Given the description of an element on the screen output the (x, y) to click on. 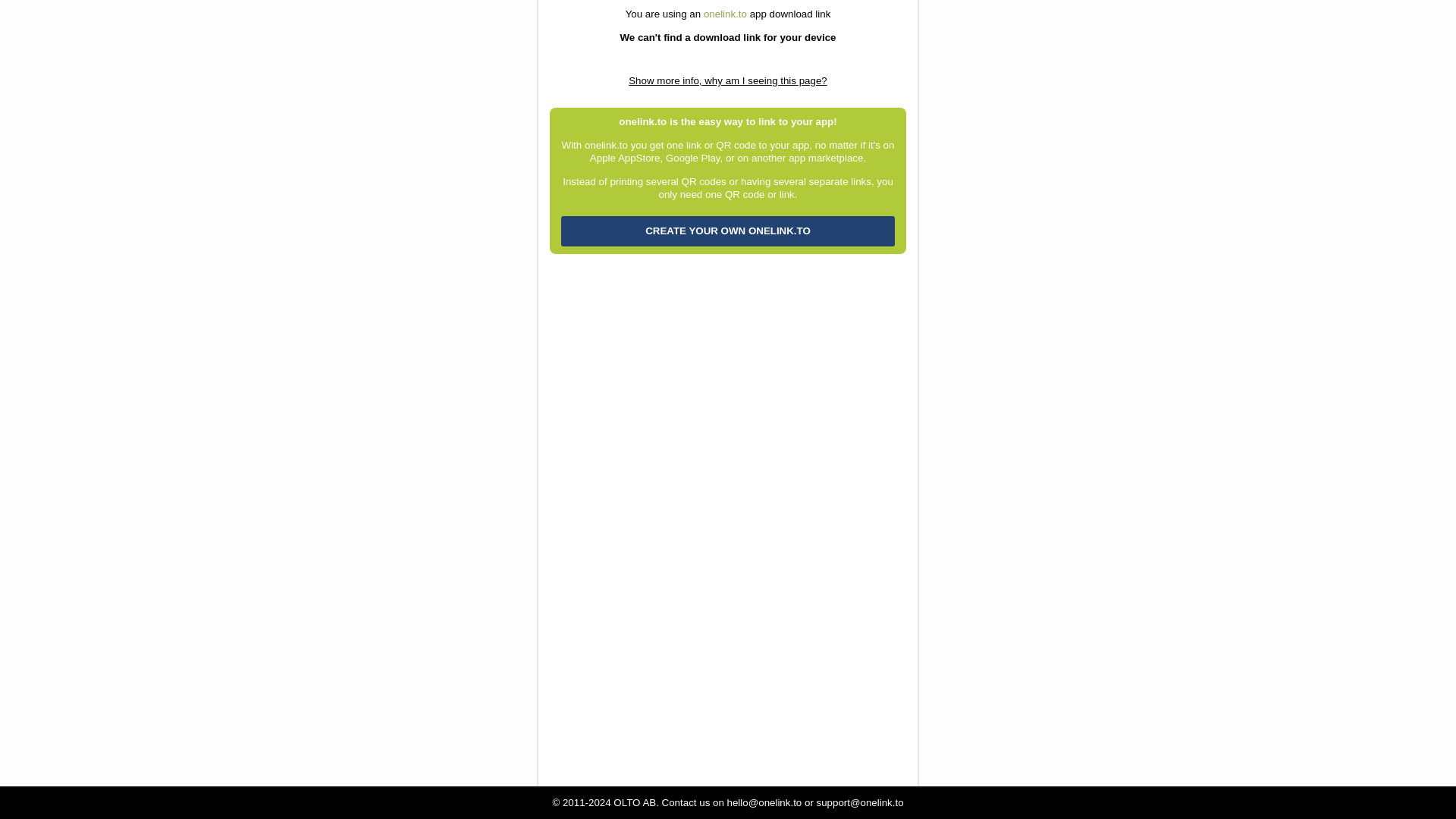
Show more info, why am I seeing this page? (727, 80)
onelink.to (724, 13)
